Given the description of an element on the screen output the (x, y) to click on. 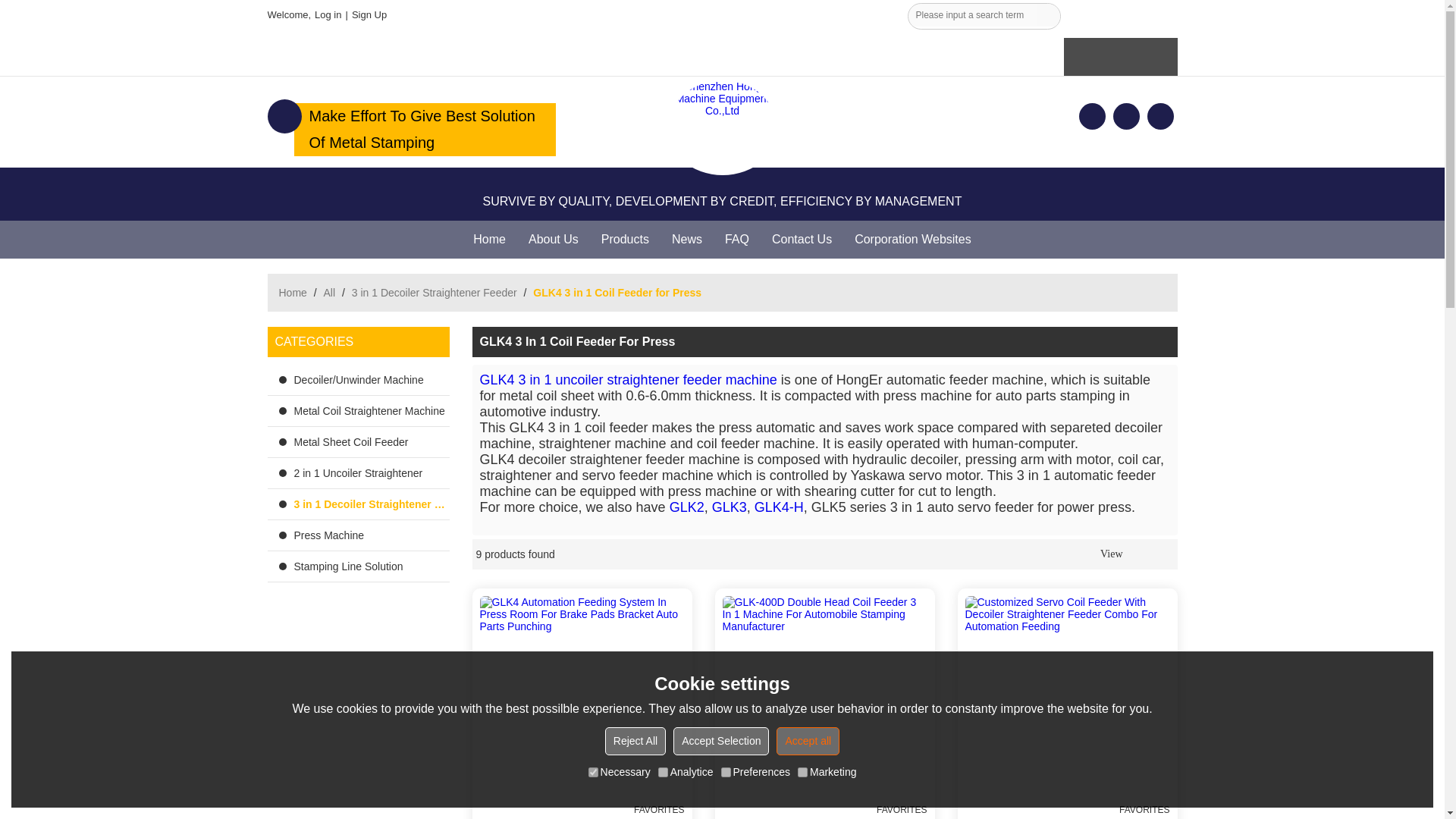
on (593, 772)
2 in 1 Uncoiler Straightener (357, 472)
Products (625, 239)
on (725, 772)
Metal Coil Straightener Machine (357, 410)
GLK3 (728, 507)
Follow linkedin (1126, 116)
Corporation Websites (912, 239)
Products (625, 239)
on (663, 772)
Contact Us (801, 239)
About Us (553, 239)
Follow facebook (1091, 116)
Contact Us (801, 239)
Metal Sheet Coil Feeder (357, 441)
